Given the description of an element on the screen output the (x, y) to click on. 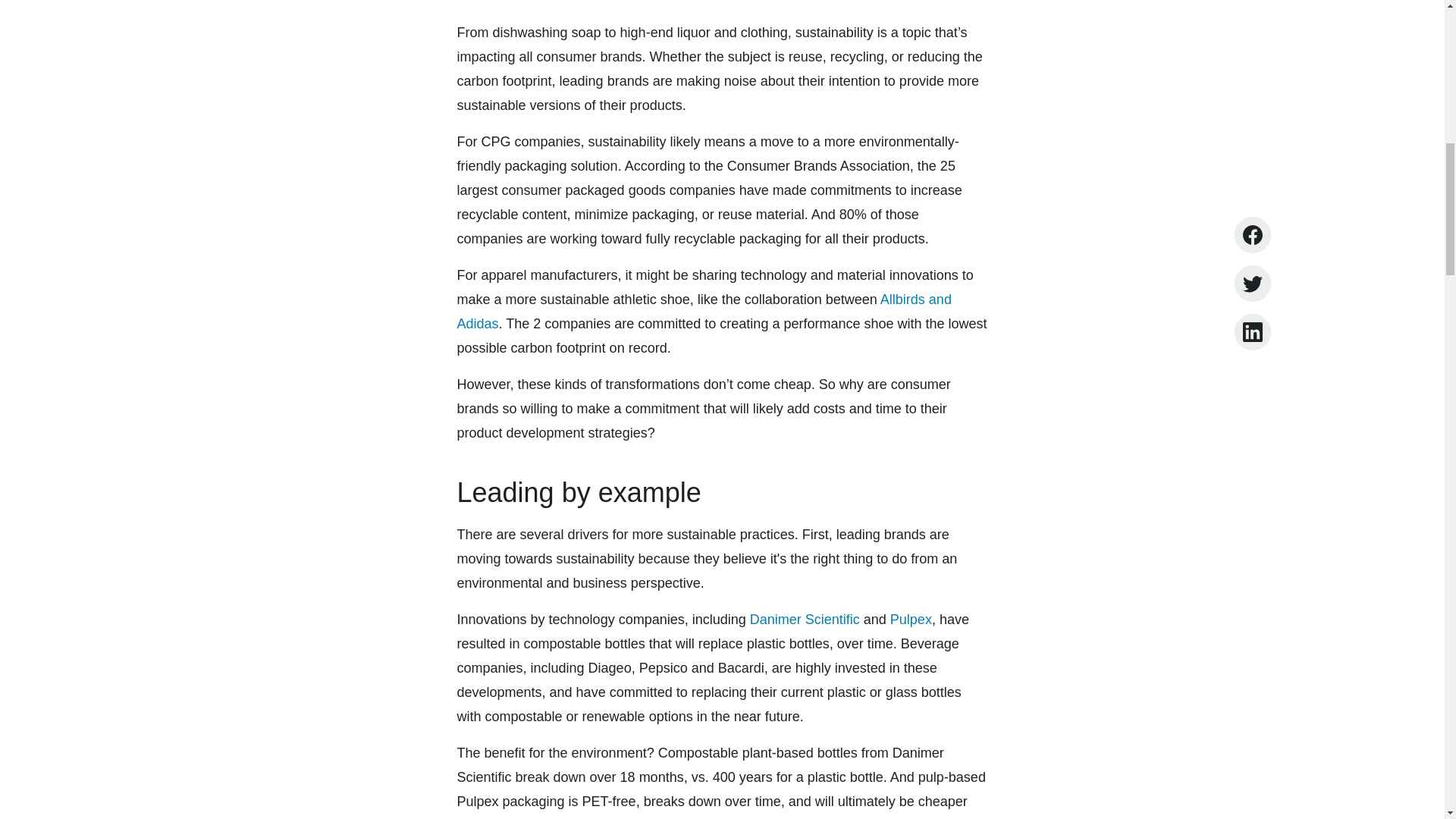
Pulpex (910, 619)
Allbirds and Adidas (703, 311)
Danimer Scientific (804, 619)
